Given the description of an element on the screen output the (x, y) to click on. 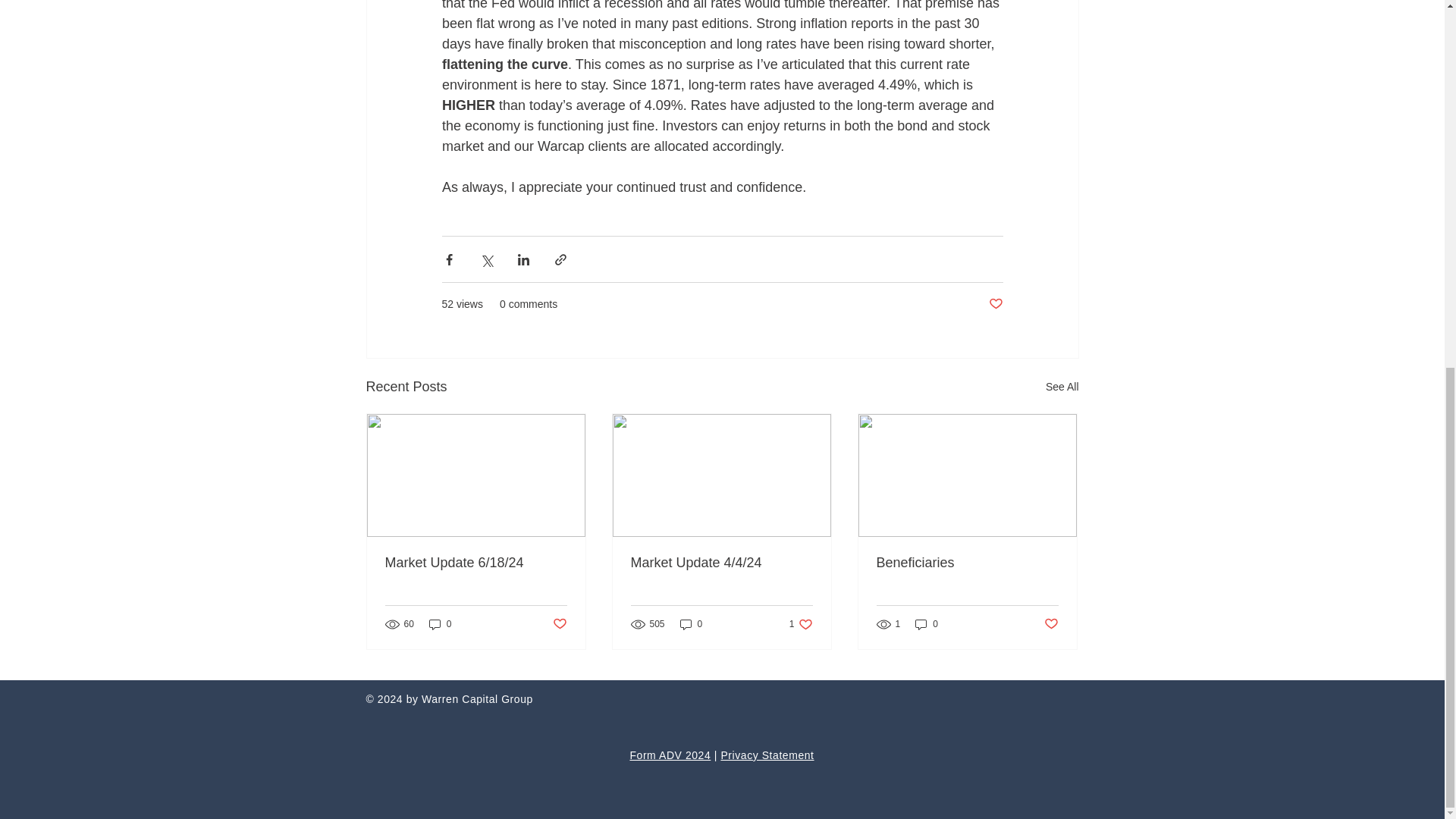
Post not marked as liked (1050, 623)
0 (691, 624)
0 (926, 624)
See All (1061, 386)
Beneficiaries (967, 562)
Post not marked as liked (800, 624)
0 (995, 304)
Post not marked as liked (440, 624)
